Given the description of an element on the screen output the (x, y) to click on. 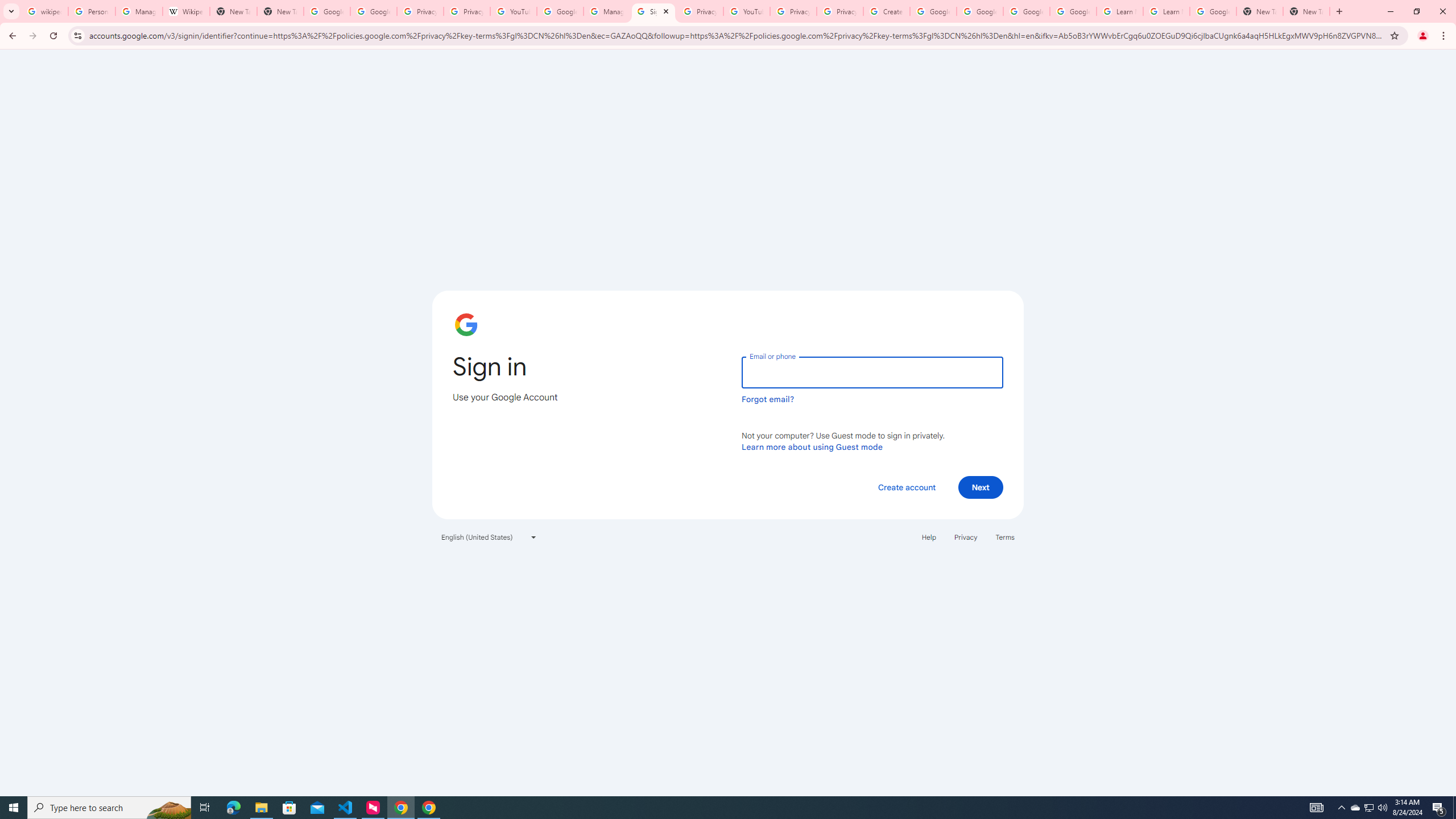
Create your Google Account (886, 11)
Manage your Location History - Google Search Help (138, 11)
Learn more about using Guest mode (812, 446)
Sign in - Google Accounts (652, 11)
Google Account Help (933, 11)
Google Account (1213, 11)
Wikipedia:Edit requests - Wikipedia (186, 11)
